Given the description of an element on the screen output the (x, y) to click on. 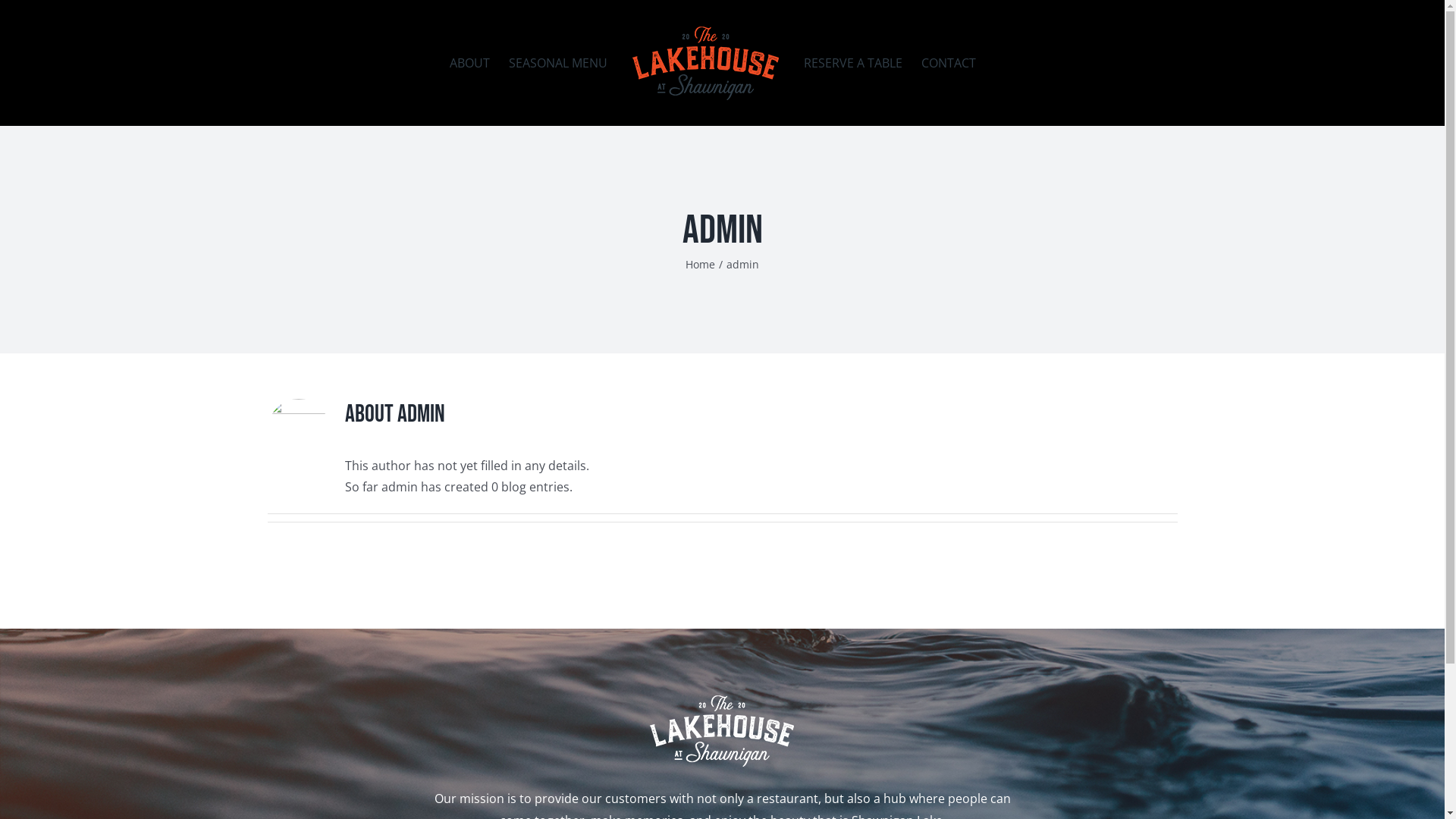
Home Element type: text (700, 264)
RESERVE A TABLE Element type: text (852, 62)
CONTACT Element type: text (948, 62)
ABOUT Element type: text (469, 62)
SEASONAL MENU Element type: text (557, 62)
